Given the description of an element on the screen output the (x, y) to click on. 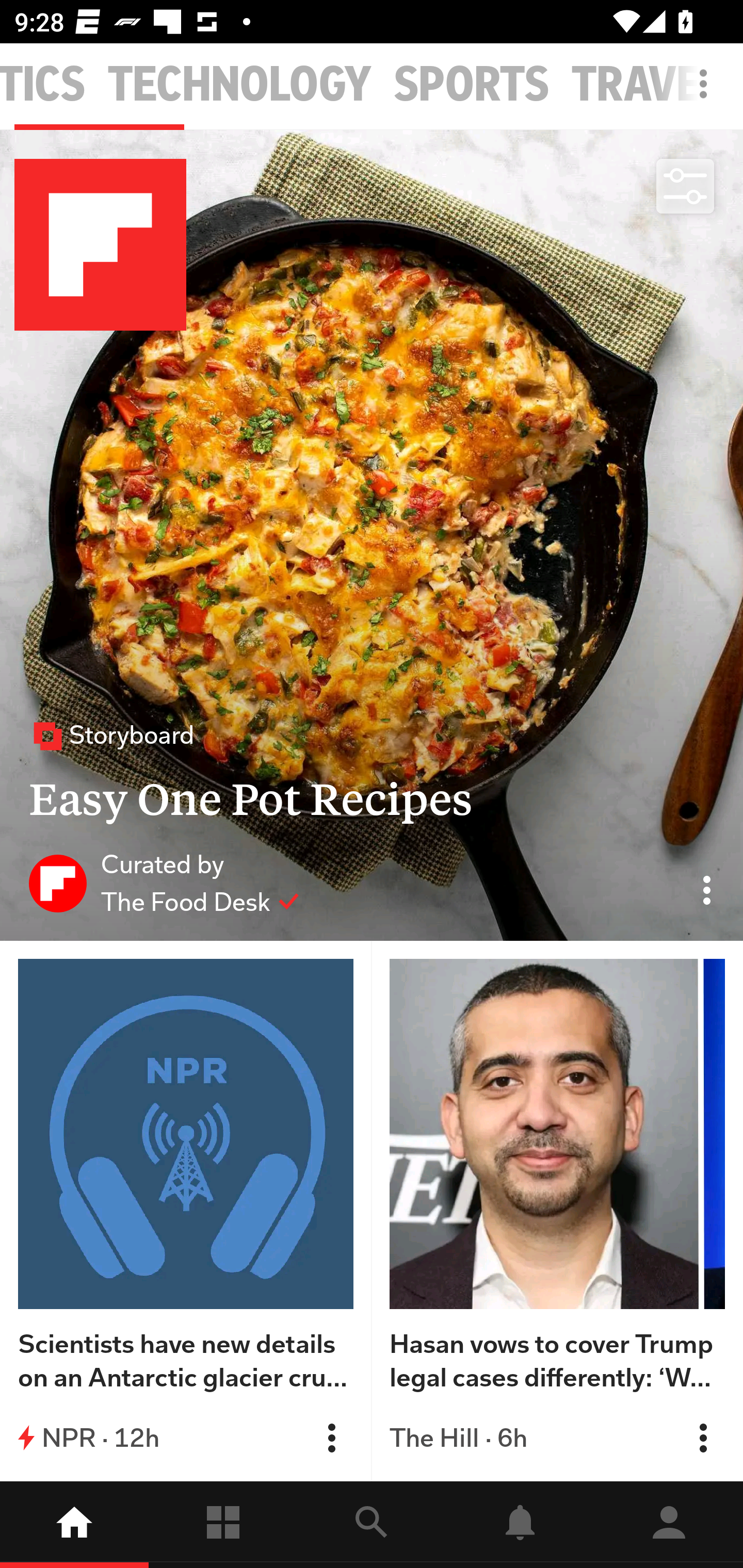
TECHNOLOGY (239, 84)
SPORTS (471, 84)
TRAVEL (647, 84)
More options (706, 93)
Curated by The Food Desk (163, 882)
NPR · 12h Flip into Magazine (185, 1437)
The Hill · 6h Flip into Magazine (557, 1437)
Flip into Magazine (331, 1437)
Flip into Magazine (703, 1437)
home (74, 1524)
Following (222, 1524)
explore (371, 1524)
Notifications (519, 1524)
Profile (668, 1524)
